Given the description of an element on the screen output the (x, y) to click on. 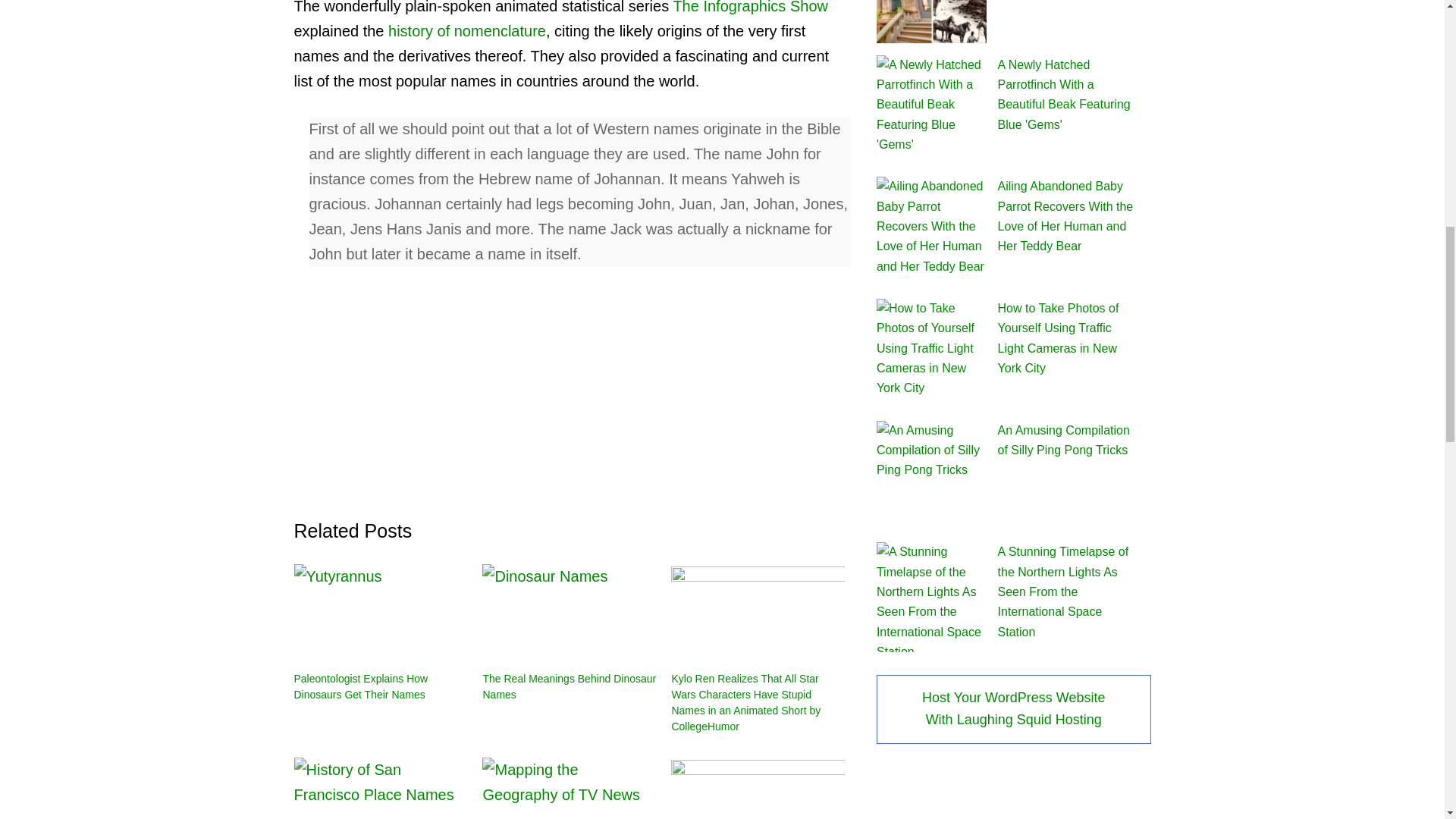
The Infographics Show (750, 7)
Interactive Map Reveals Origins of San Francisco Place Names (380, 788)
history of nomenclature (467, 30)
Paleontologist Explains How Dinosaurs Get Their Names (380, 613)
The Real Meanings Behind Dinosaur Names (568, 686)
Paleontologist Explains How Dinosaurs Get Their Names (361, 686)
